Given the description of an element on the screen output the (x, y) to click on. 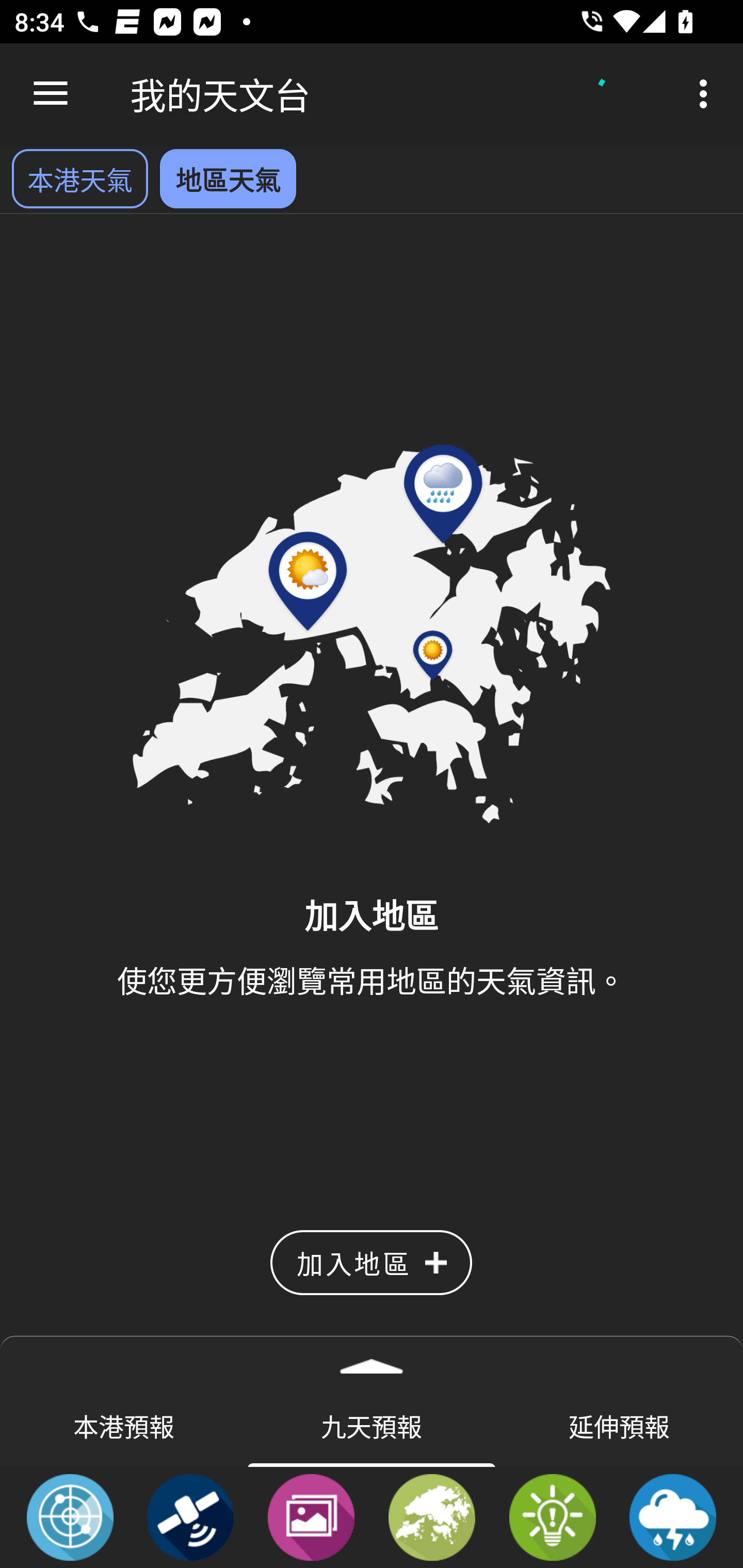
向上瀏覽 (50, 93)
更多選項 (706, 93)
本港天氣 選擇 本港天氣 (79, 178)
地區天氣 已選擇 地區天氣 (227, 178)
加入地區 (370, 1262)
展開 (371, 1358)
本港預報 (123, 1424)
延伸預報 (619, 1424)
雷達圖像 (69, 1516)
衛星圖像 (190, 1516)
天氣照片 (310, 1516)
分區天氣 (431, 1516)
天氣提示 (551, 1516)
定點降雨及閃電預報 (672, 1516)
